Given the description of an element on the screen output the (x, y) to click on. 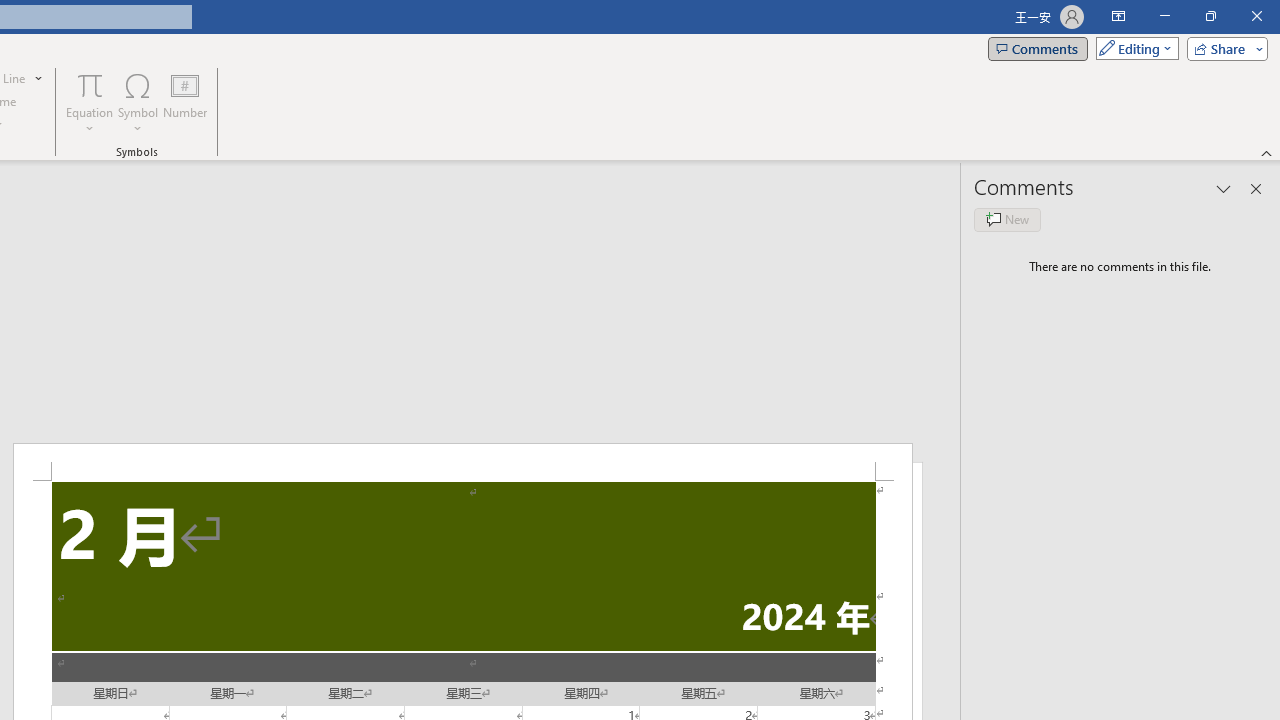
Restore Down (1210, 16)
Close (1256, 16)
Close pane (1256, 188)
Number... (185, 102)
Equation (90, 102)
Header -Section 2- (462, 461)
Share (1223, 48)
Equation (90, 84)
More Options (90, 121)
Task Pane Options (1224, 188)
New comment (1007, 219)
Comments (1038, 48)
Minimize (1164, 16)
